Given the description of an element on the screen output the (x, y) to click on. 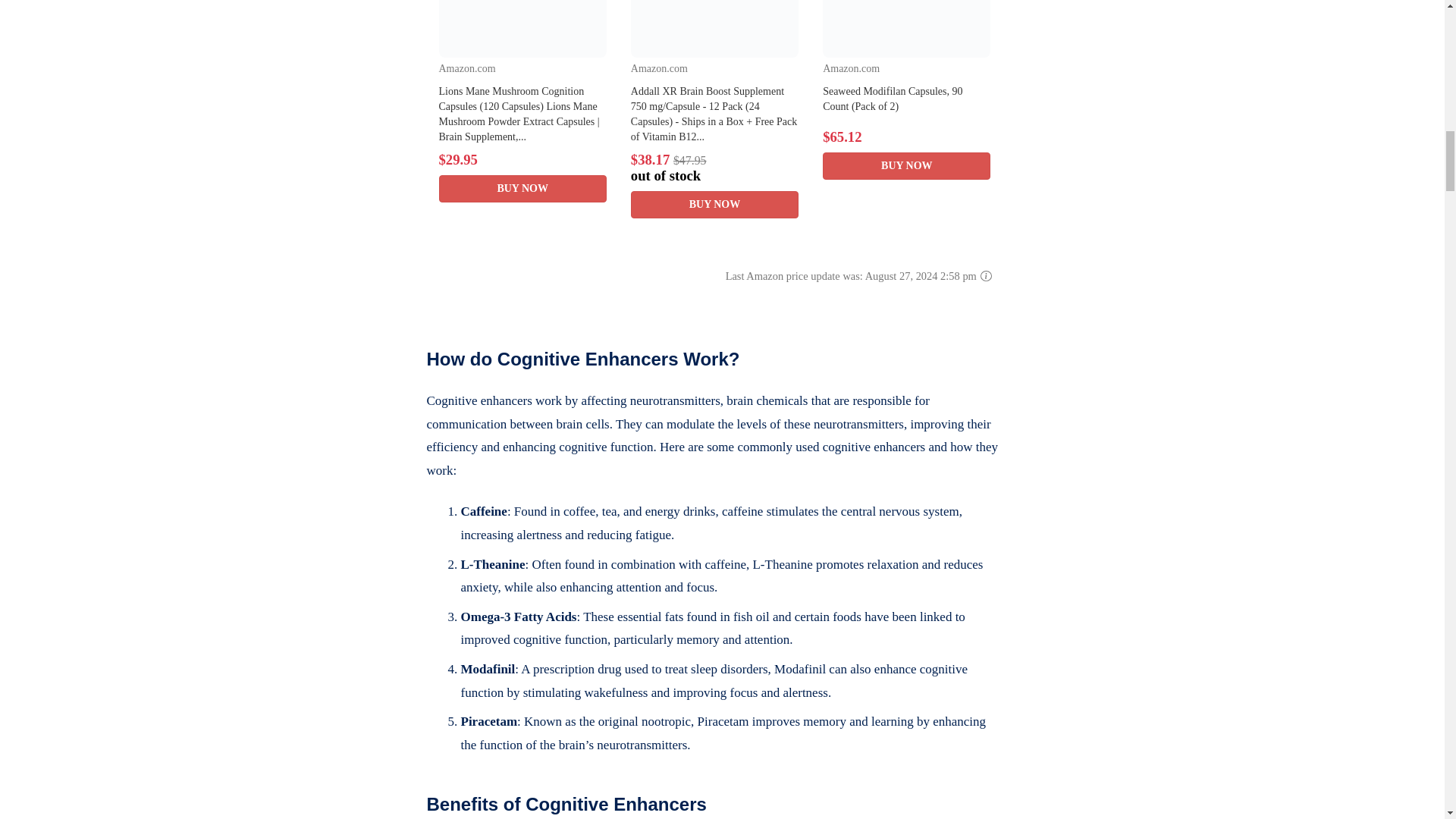
BUY NOW (521, 188)
BUY NOW (713, 204)
BUY NOW (906, 165)
Last updated on August 27, 2024 2:58 pm (713, 175)
